Given the description of an element on the screen output the (x, y) to click on. 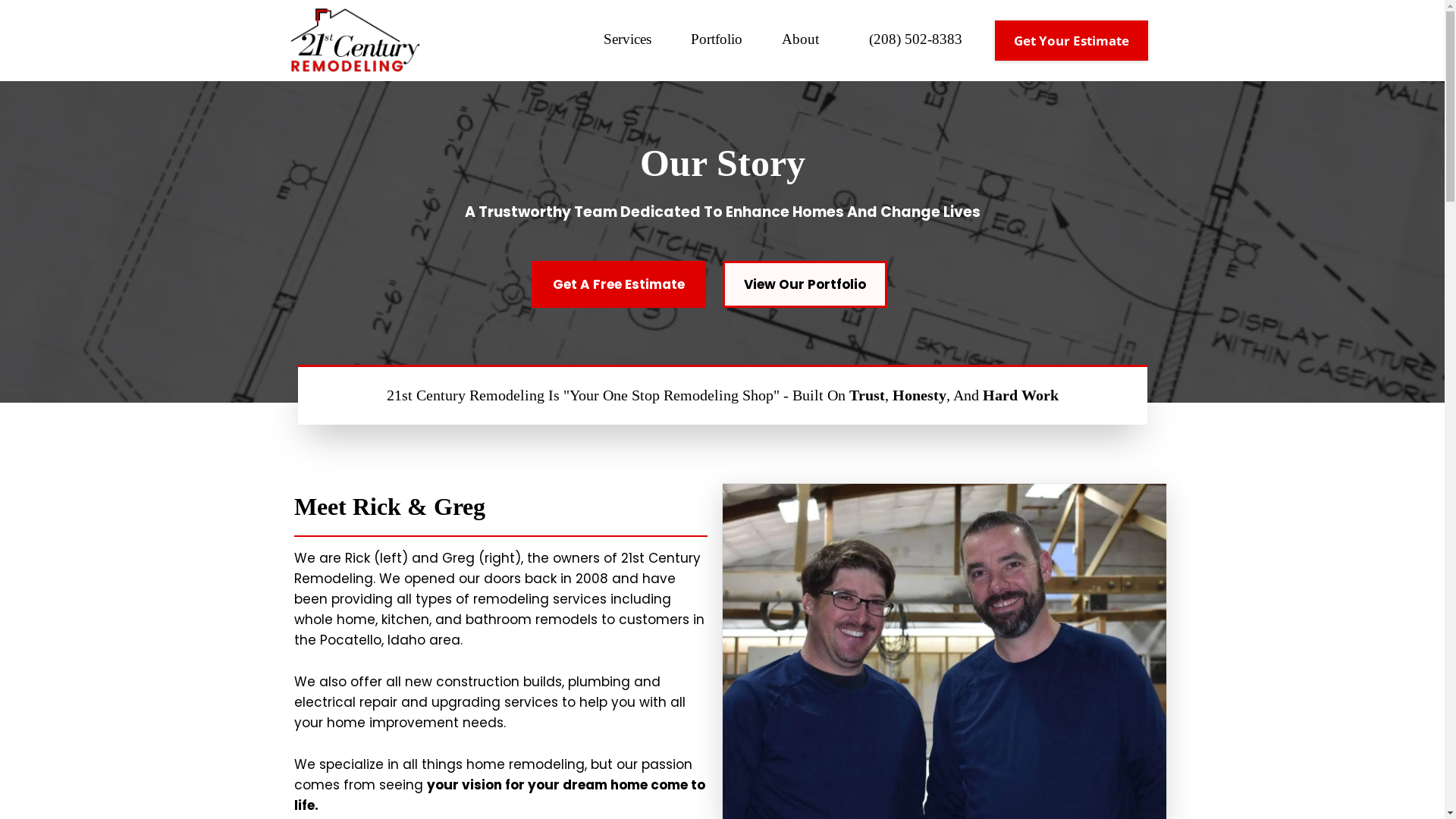
Get Your Estimate Element type: text (1071, 40)
Get A Free Estimate Element type: text (618, 283)
About Element type: text (800, 40)
Services Element type: text (627, 40)
Portfolio Element type: text (716, 40)
View Our Portfolio Element type: text (803, 283)
(208) 502-8383 Element type: text (915, 40)
